Given the description of an element on the screen output the (x, y) to click on. 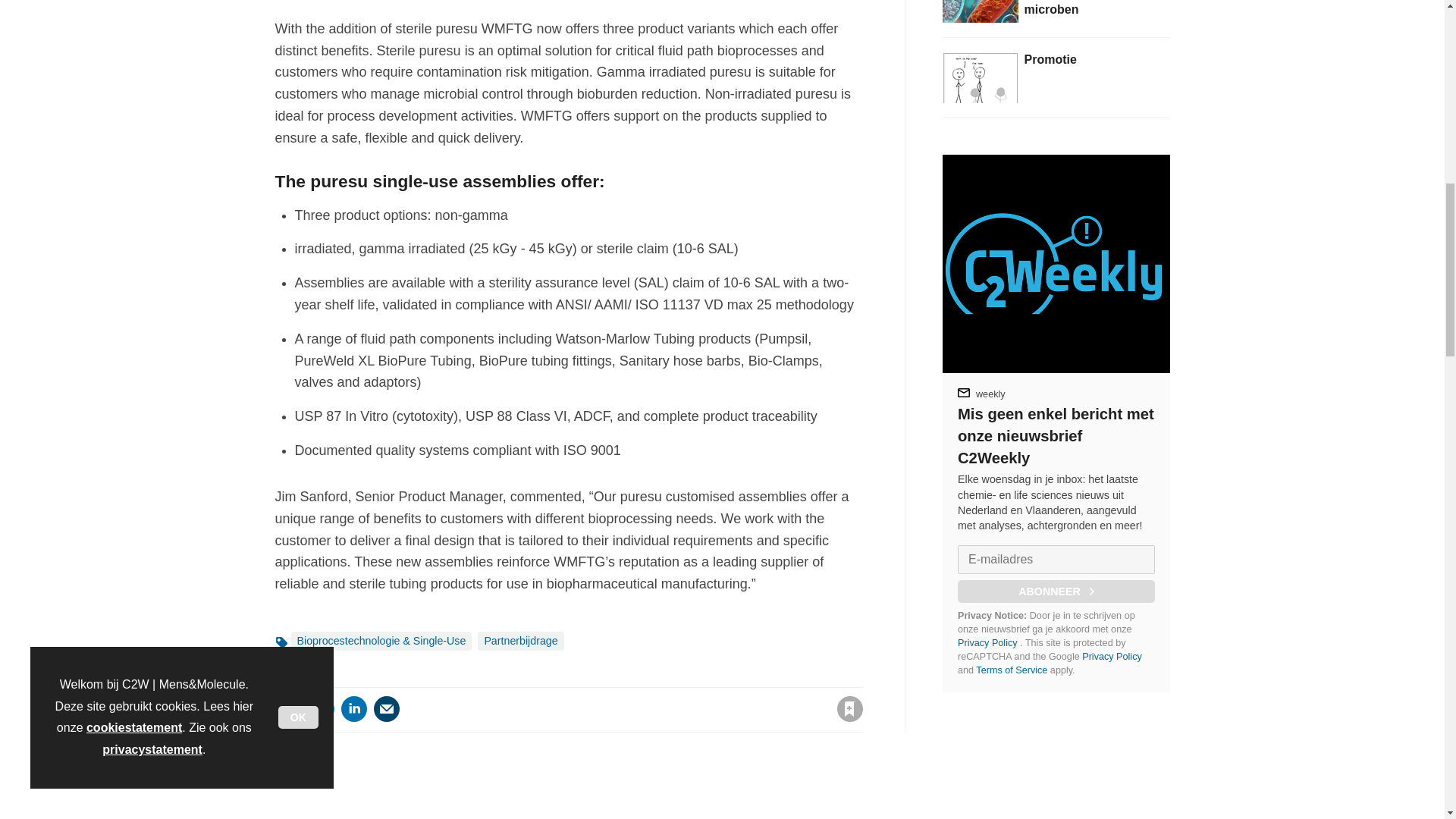
Share this on Facebook (288, 708)
E-mail dit artikel (386, 708)
Share this on Linked in (352, 708)
3rd party ad content (1055, 755)
Share this on Twitter (320, 708)
